Given the description of an element on the screen output the (x, y) to click on. 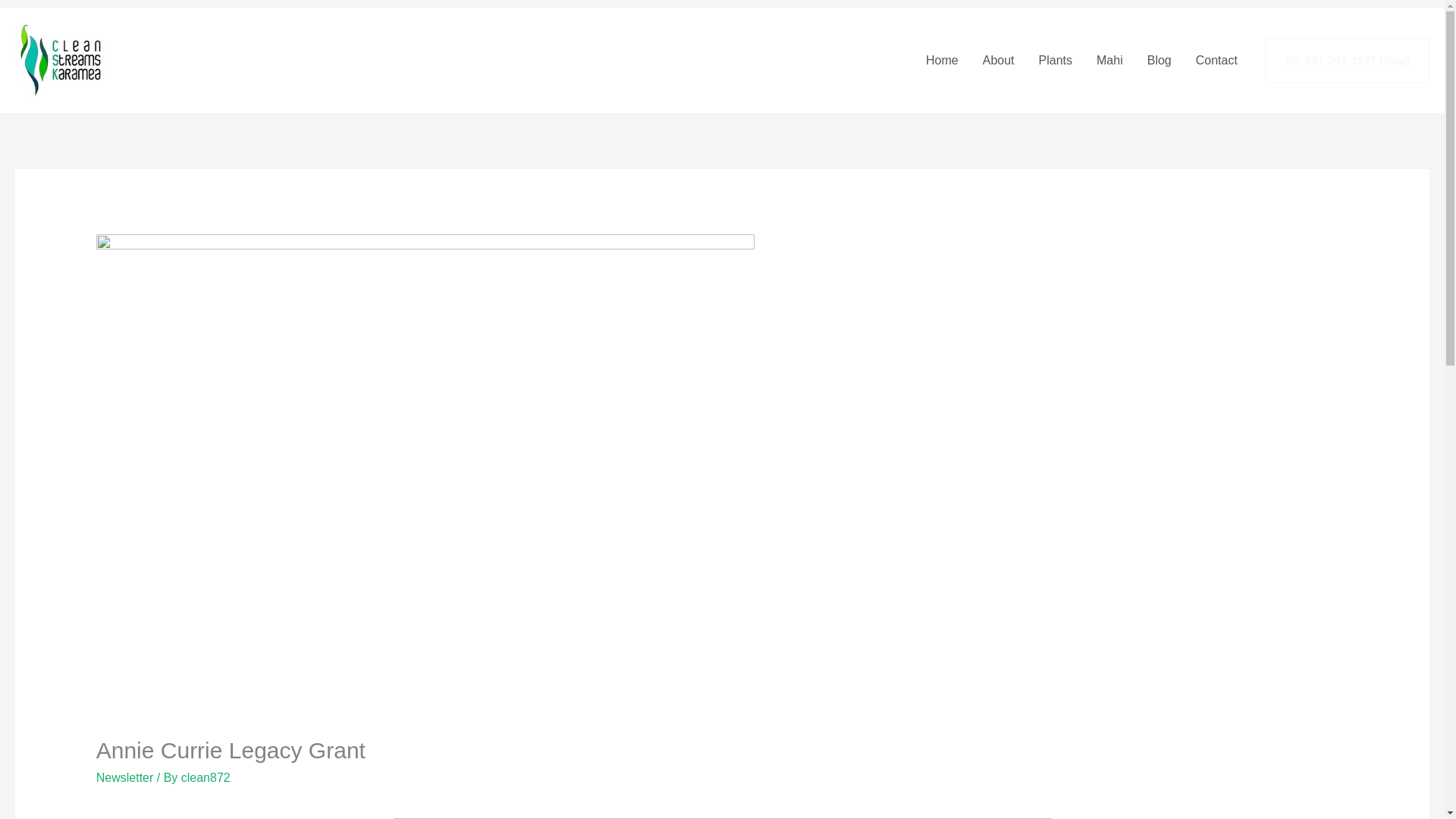
clean872 (205, 777)
Mahi (1109, 60)
Home (942, 60)
Plants (1055, 60)
Contact (1216, 60)
View all posts by clean872 (205, 777)
Blog (1159, 60)
Newsletter (125, 777)
About (998, 60)
